Given the description of an element on the screen output the (x, y) to click on. 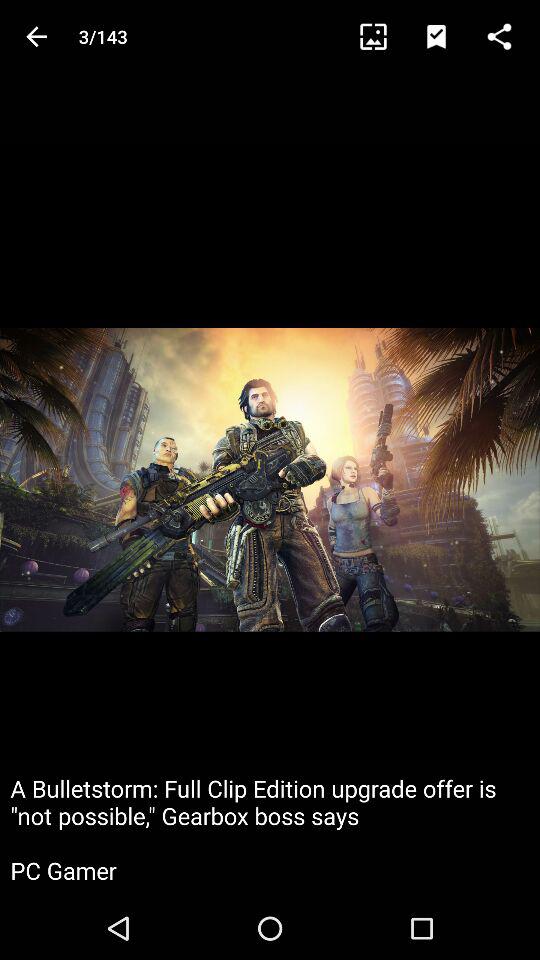
bookmark article (445, 36)
